Given the description of an element on the screen output the (x, y) to click on. 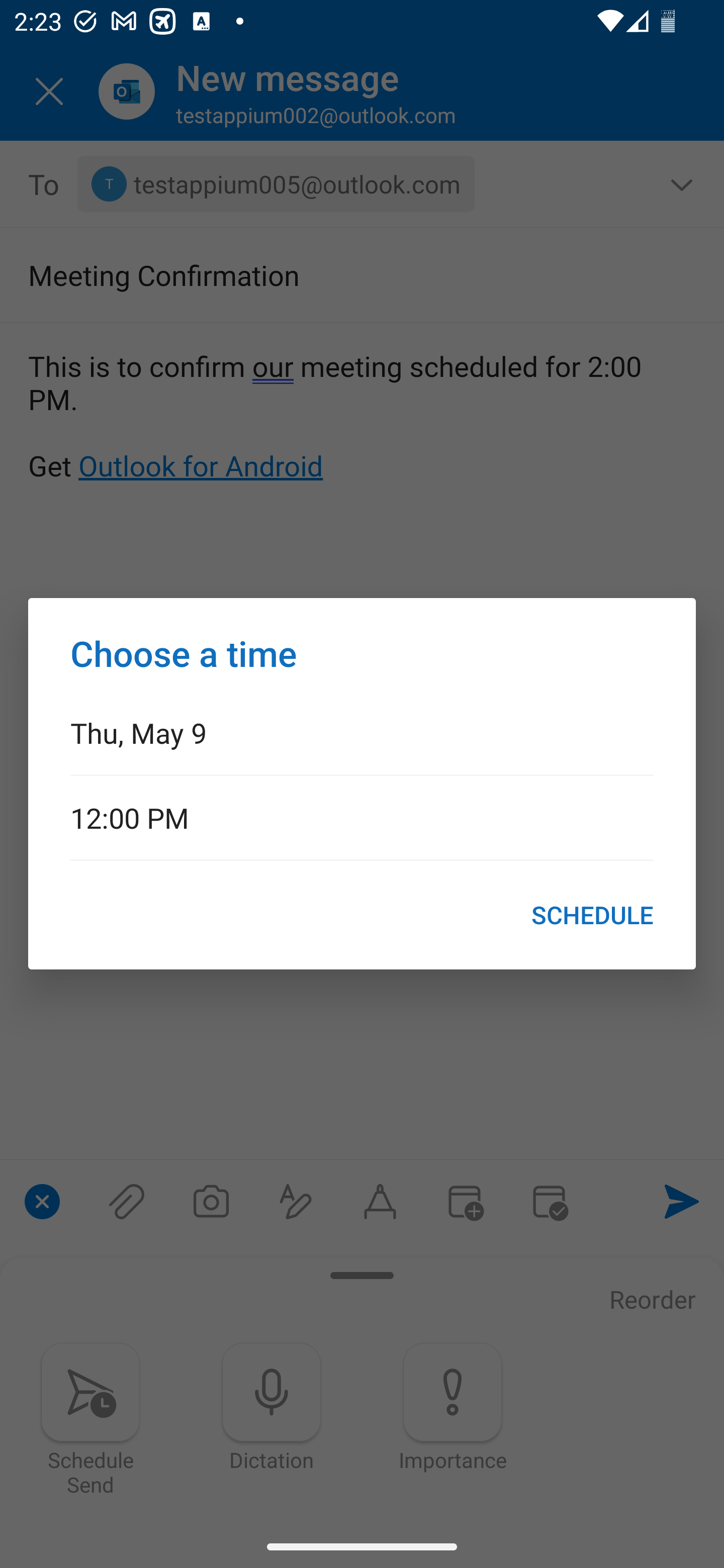
Thu, May 9 Choose date Thu, May 9 (361, 731)
12:00 PM Choose time 12:00 PM (361, 817)
SCHEDULE (592, 914)
